Given the description of an element on the screen output the (x, y) to click on. 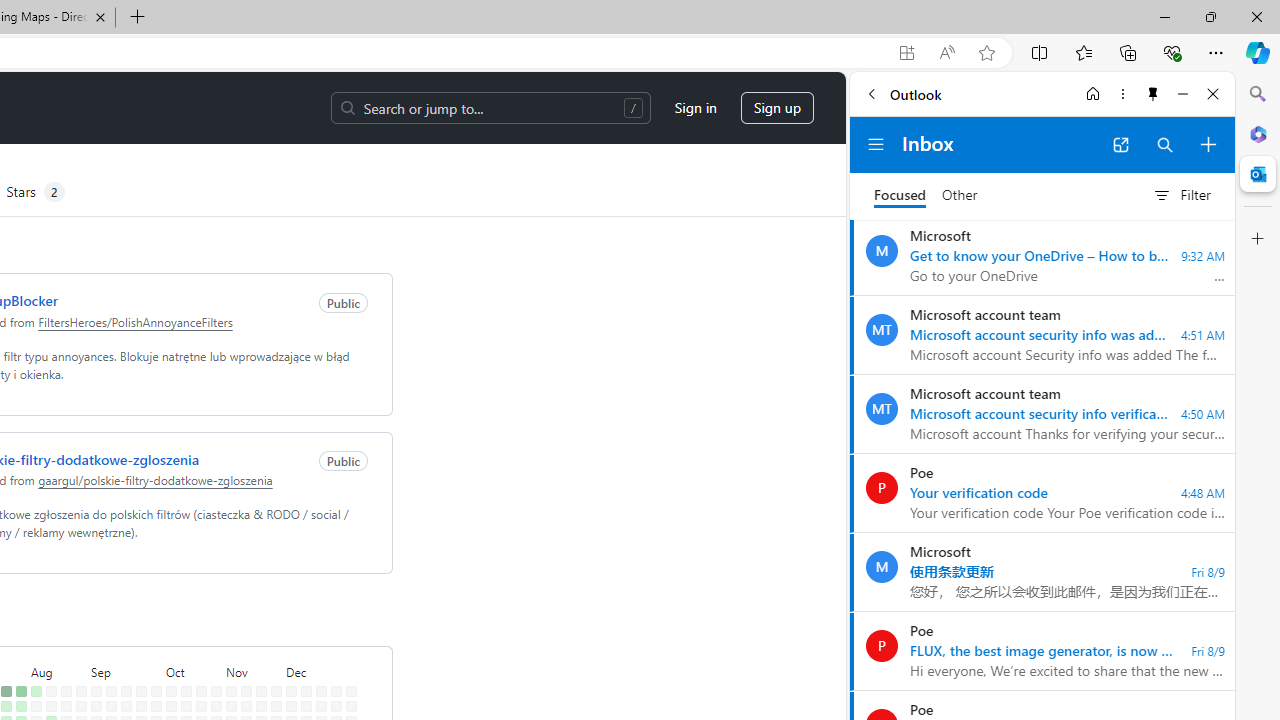
Home (1093, 93)
Microsoft 365 (1258, 133)
Enter Immersive Reader (F9) (946, 53)
Compose new mail (1208, 144)
Customize (1258, 239)
Unpin side pane (1153, 93)
